Given the description of an element on the screen output the (x, y) to click on. 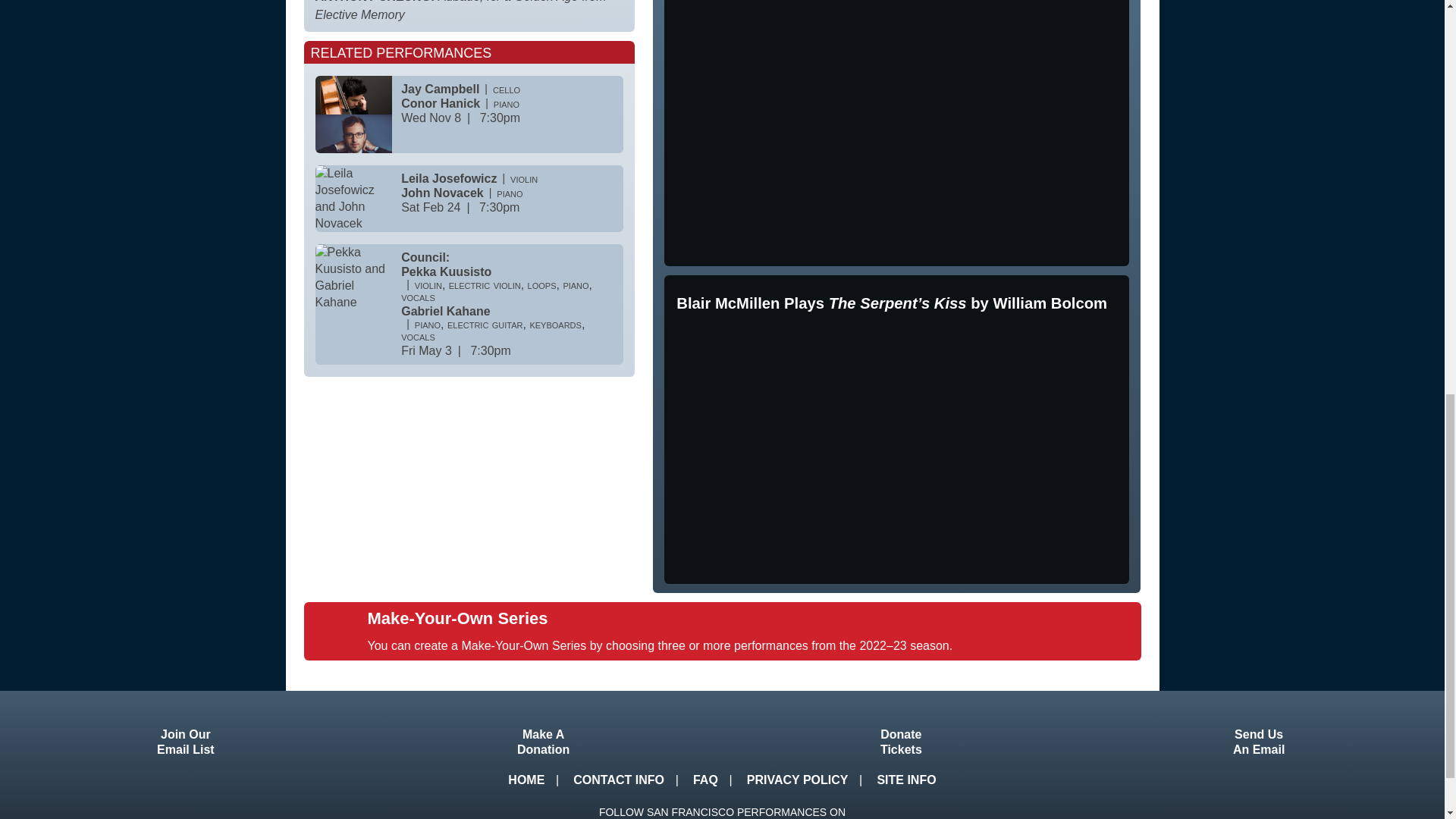
HOME (526, 779)
SITE INFO (901, 726)
YouTube video player (906, 779)
YouTube video player (888, 447)
PRIVACY POLICY (888, 129)
CONTACT INFO (186, 726)
